Given the description of an element on the screen output the (x, y) to click on. 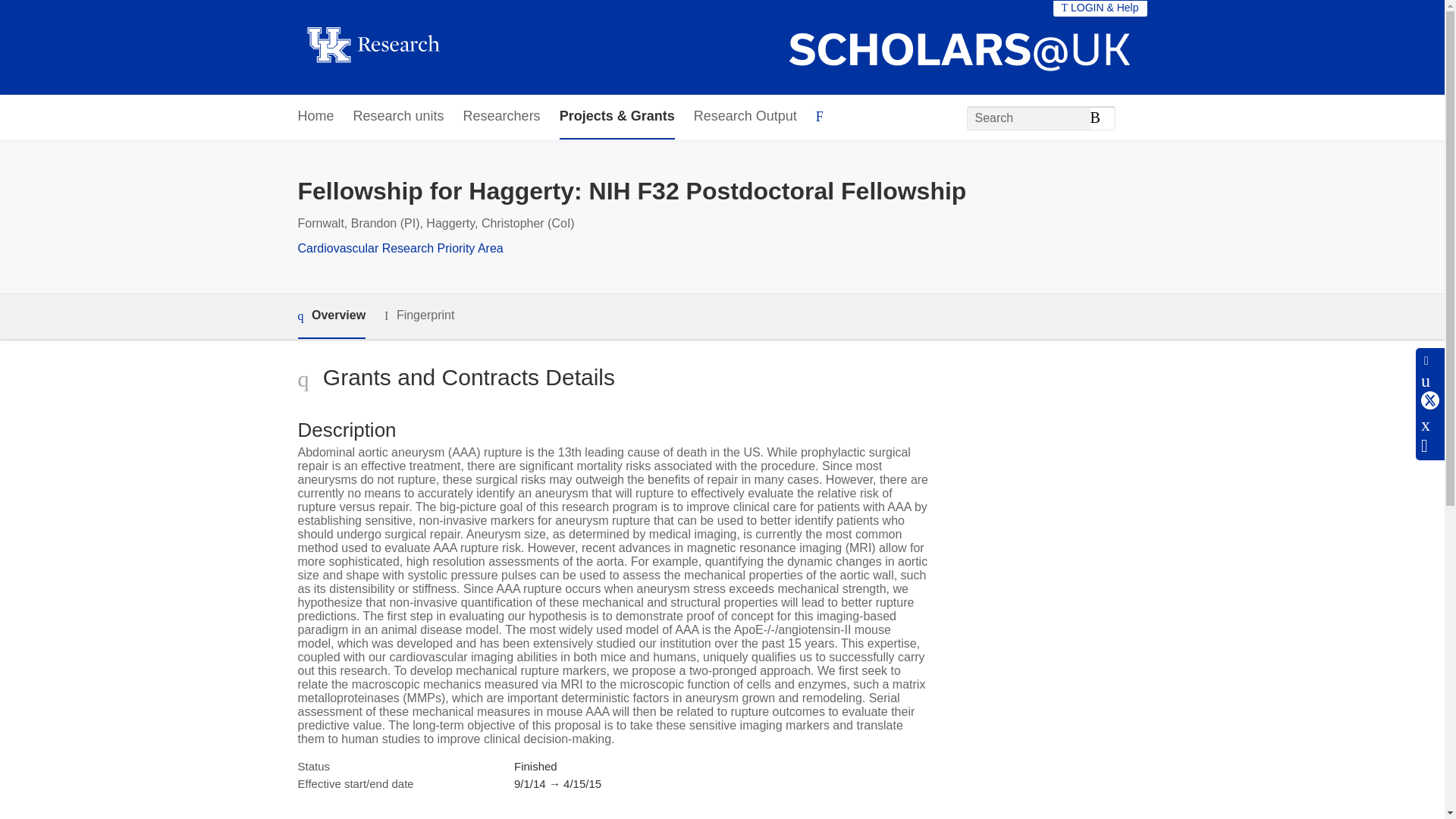
Overview (331, 316)
Cardiovascular Research Priority Area (399, 247)
Research Output (745, 117)
University of Kentucky Home (372, 47)
Research units (398, 117)
Fingerprint (419, 315)
Researchers (501, 117)
